Given the description of an element on the screen output the (x, y) to click on. 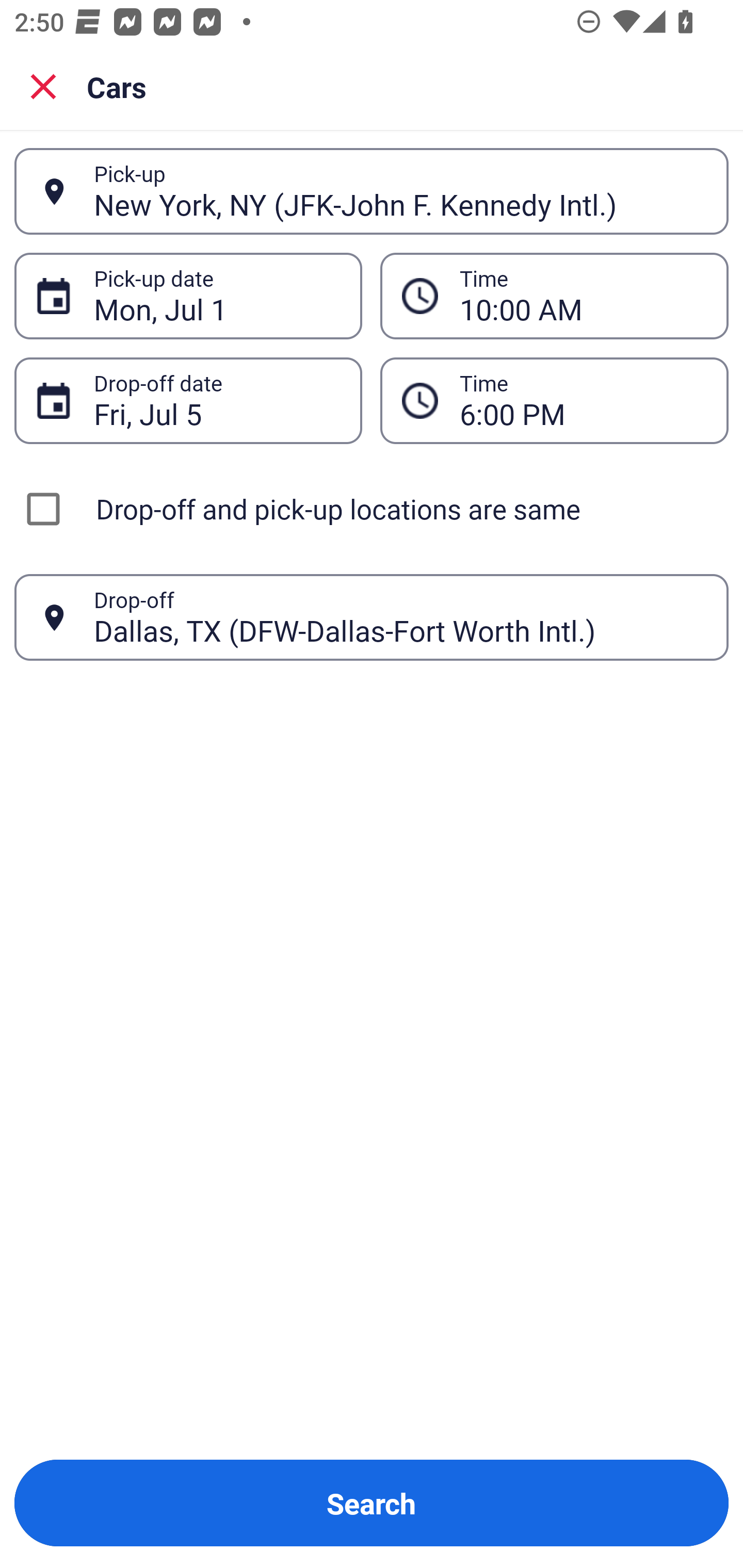
Close search screen (43, 86)
New York, NY (JFK-John F. Kennedy Intl.) Pick-up (371, 191)
New York, NY (JFK-John F. Kennedy Intl.) (399, 191)
Mon, Jul 1 Pick-up date (188, 295)
10:00 AM (554, 295)
Mon, Jul 1 (216, 296)
10:00 AM (582, 296)
Fri, Jul 5 Drop-off date (188, 400)
6:00 PM (554, 400)
Fri, Jul 5 (216, 400)
6:00 PM (582, 400)
Drop-off and pick-up locations are same (371, 508)
Dallas, TX (DFW-Dallas-Fort Worth Intl.) Drop-off (371, 616)
Dallas, TX (DFW-Dallas-Fort Worth Intl.) (399, 616)
Search Button Search (371, 1502)
